Given the description of an element on the screen output the (x, y) to click on. 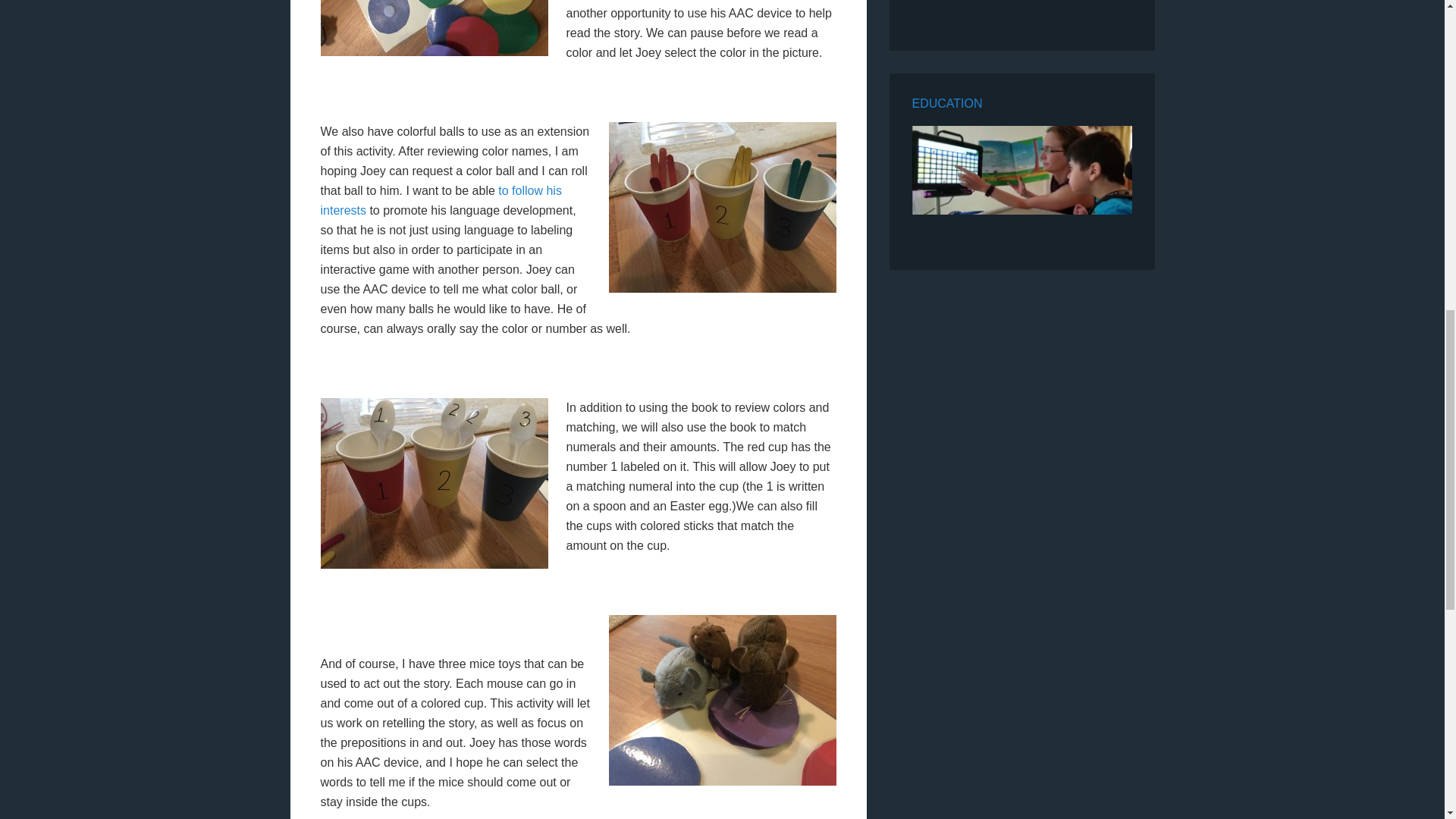
Education (946, 103)
EDUCATION (946, 103)
Education (1021, 173)
to follow his interests (440, 200)
